Given the description of an element on the screen output the (x, y) to click on. 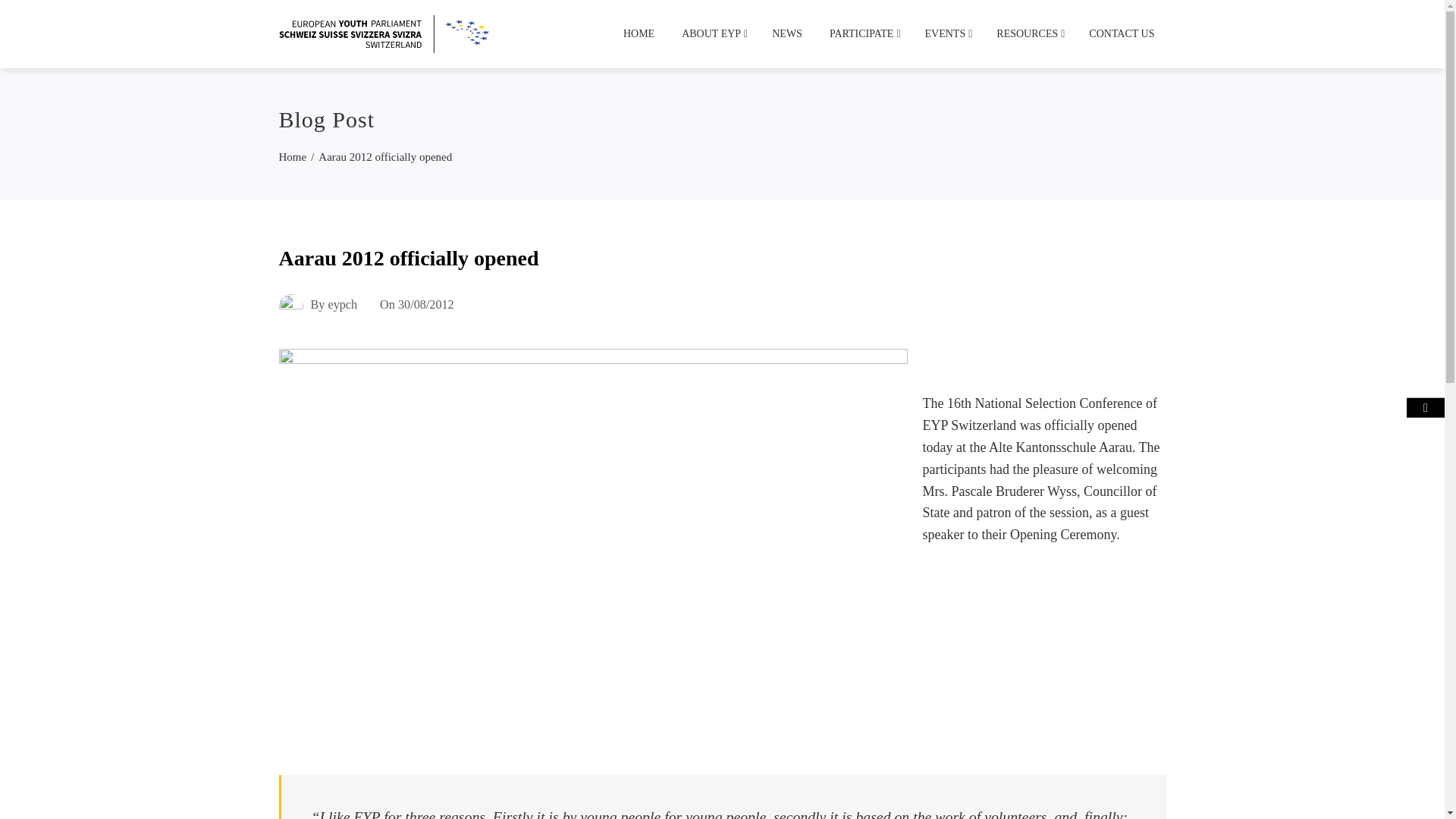
ABOUT EYP (712, 33)
RESOURCES (1029, 33)
CONTACT US (1121, 33)
PARTICIPATE (863, 33)
NEWS (786, 33)
EVENTS (947, 33)
HOME (638, 33)
